Given the description of an element on the screen output the (x, y) to click on. 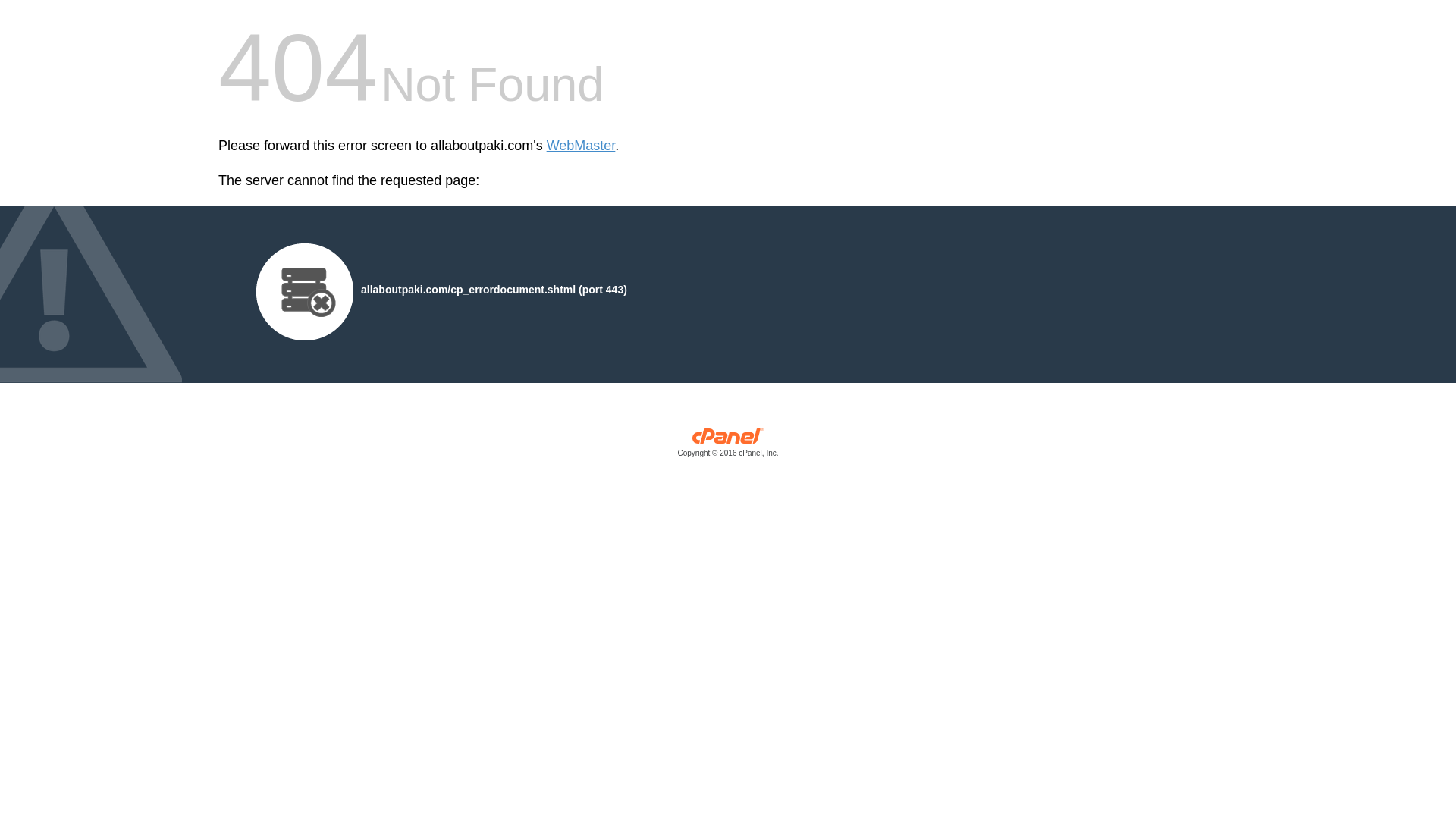
cPanel, Inc. (727, 446)
WebMaster (581, 145)
